Given the description of an element on the screen output the (x, y) to click on. 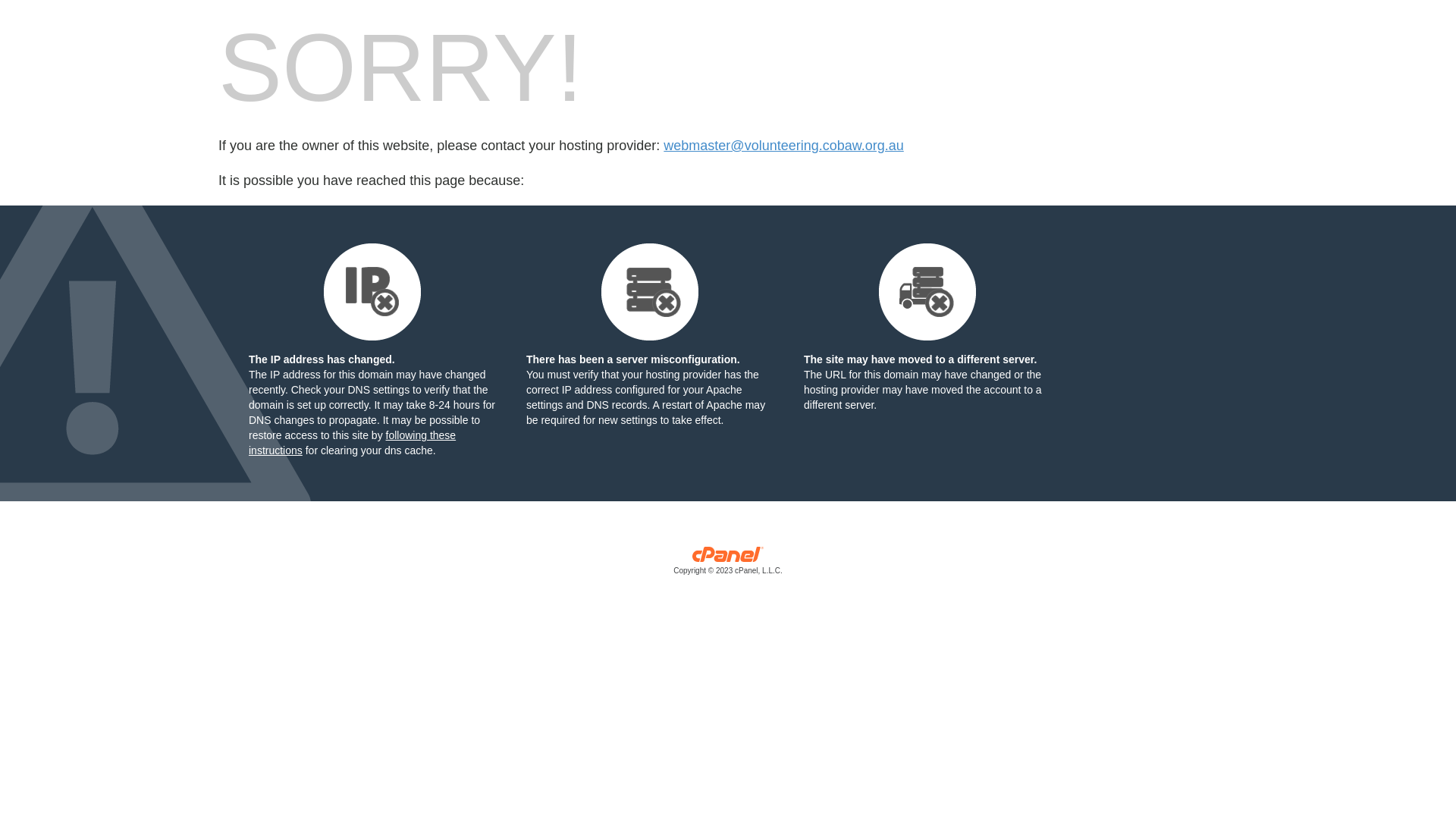
following these instructions Element type: text (351, 442)
webmaster@volunteering.cobaw.org.au Element type: text (783, 145)
